Given the description of an element on the screen output the (x, y) to click on. 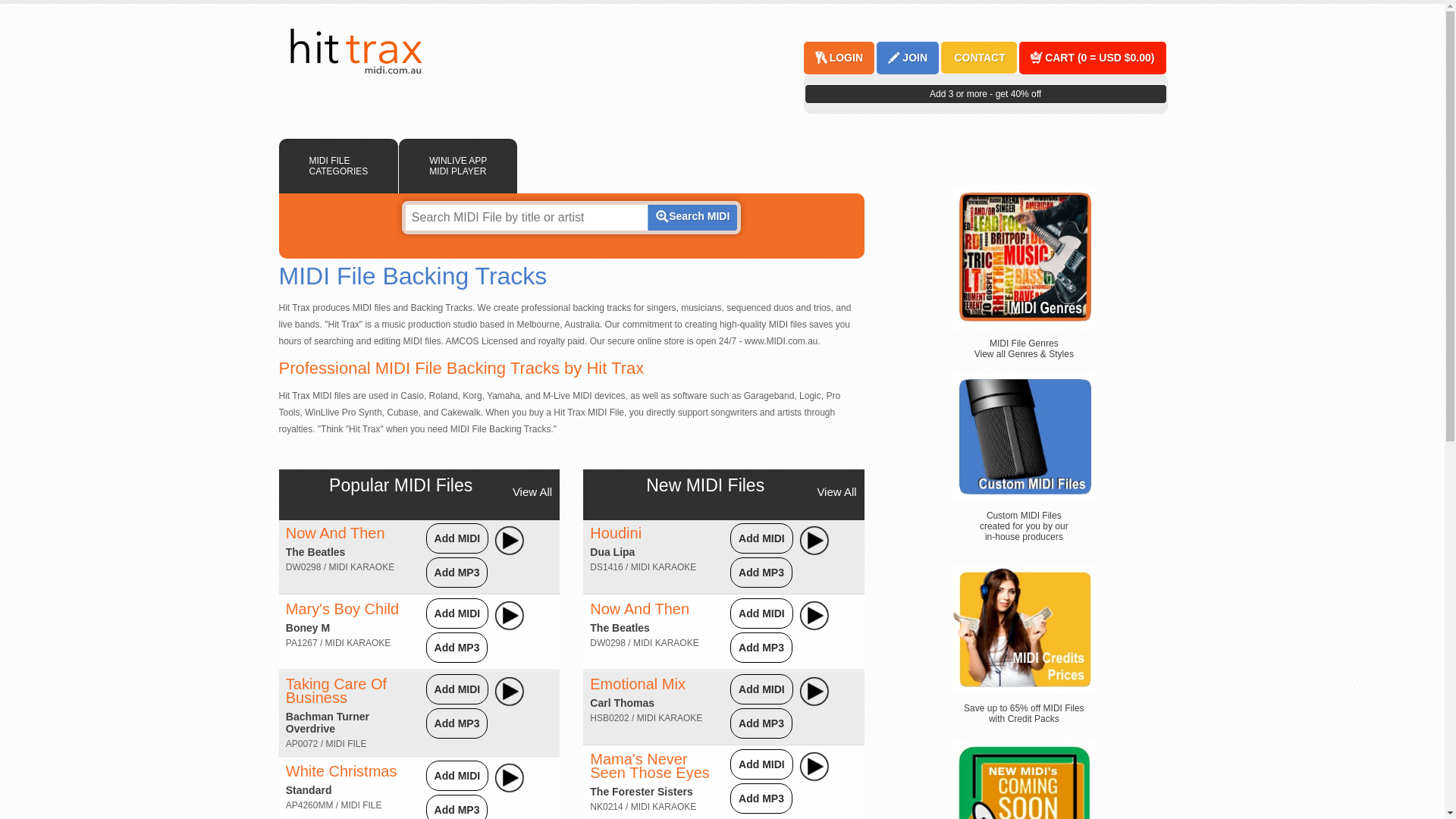
Carl Thomas Element type: text (621, 702)
CONTACT Element type: text (978, 57)
Add MP3 Element type: text (761, 647)
Add MP3 Element type: text (457, 572)
The Beatles Element type: text (619, 627)
Add MIDI Element type: text (457, 775)
Play Mary's Boy Child Element type: hover (509, 615)
Add MP3 Element type: text (457, 723)
Search MIDI Element type: text (692, 217)
Emotional Mix Element type: text (637, 683)
Now And Then Element type: text (335, 532)
Standard Element type: text (308, 790)
Mama's Never Seen Those Eyes Element type: text (649, 765)
The Beatles Element type: text (315, 552)
Play Now And Then Element type: hover (509, 540)
MIDI File Genres
View all Genres & Styles Element type: text (1023, 348)
Play Now And Then Element type: hover (814, 615)
Play Mama's Never Seen Those Eyes Element type: hover (814, 766)
Add MP3 Element type: text (761, 572)
Add MIDI Element type: text (761, 764)
Houdini Element type: text (615, 532)
Mary's Boy Child Element type: text (341, 608)
Play Taking Care Of Business Element type: hover (509, 691)
JOIN Element type: text (913, 57)
Add MIDI Credits Element type: hover (1023, 629)
Add MIDI Element type: text (457, 689)
The Forester Sisters Element type: text (640, 791)
Now And Then Element type: text (639, 608)
Custom MIDI Files Element type: hover (1023, 437)
Popular MIDI Files
View All Element type: text (400, 485)
CART (0 = USD $0.00) Element type: text (1098, 57)
Play Emotional Mix Element type: hover (814, 691)
Add MIDI Element type: text (761, 613)
Play White Christmas Element type: hover (509, 777)
MIDI Files Backing Tracks Element type: hover (354, 51)
New MIDI Files
View All Element type: text (705, 485)
Taking Care Of Business Element type: text (335, 690)
MIDI File Genres Element type: hover (1023, 257)
Add MP3 Element type: text (761, 723)
White Christmas Element type: text (341, 770)
Add MP3 Element type: text (457, 647)
Add MIDI Element type: text (761, 689)
Play Houdini Element type: hover (814, 540)
Custom MIDI Files
created for you by our
in-house producers Element type: text (1023, 526)
Save up to 65% off MIDI Files
with Credit Packs Element type: text (1023, 713)
Boney M Element type: text (307, 627)
Add MIDI Element type: text (457, 538)
Add MIDI Element type: text (457, 613)
Add MP3 Element type: text (457, 809)
Dua Lipa Element type: text (611, 552)
Bachman Turner Overdrive Element type: text (327, 722)
Add MP3 Element type: text (761, 798)
Add MIDI Element type: text (761, 538)
LOGIN Element type: text (845, 57)
